Given the description of an element on the screen output the (x, y) to click on. 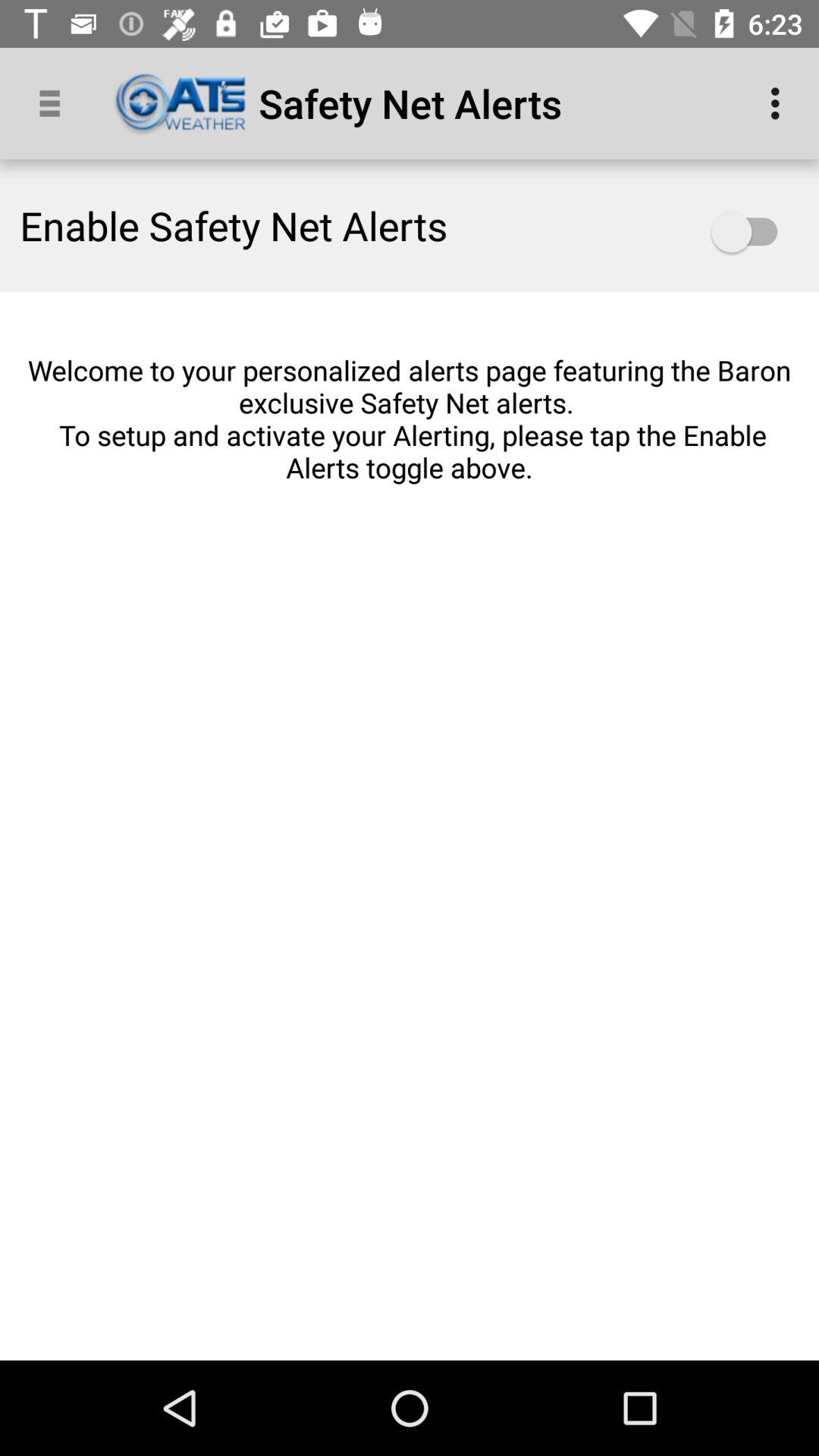
turn on the icon above the enable safety net icon (55, 103)
